Given the description of an element on the screen output the (x, y) to click on. 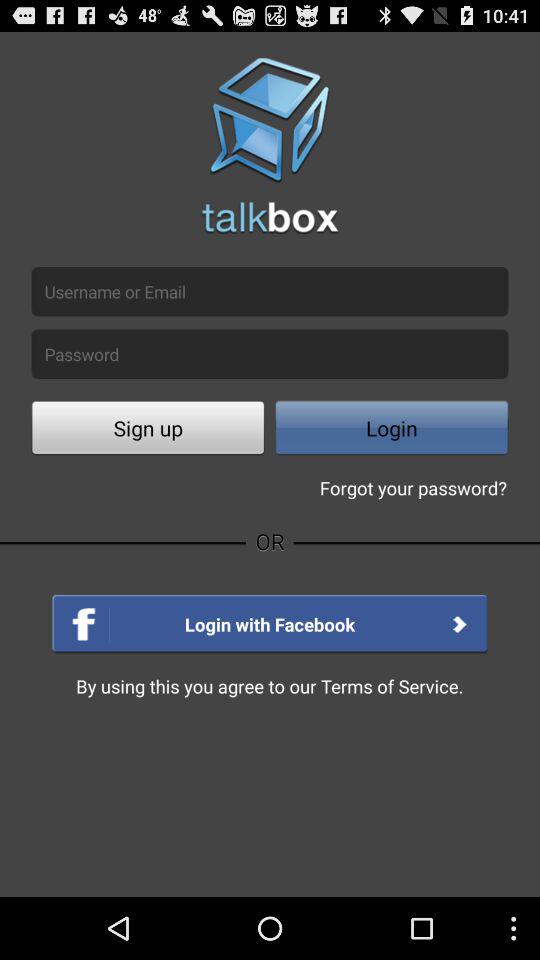
press the sign up icon (148, 430)
